Given the description of an element on the screen output the (x, y) to click on. 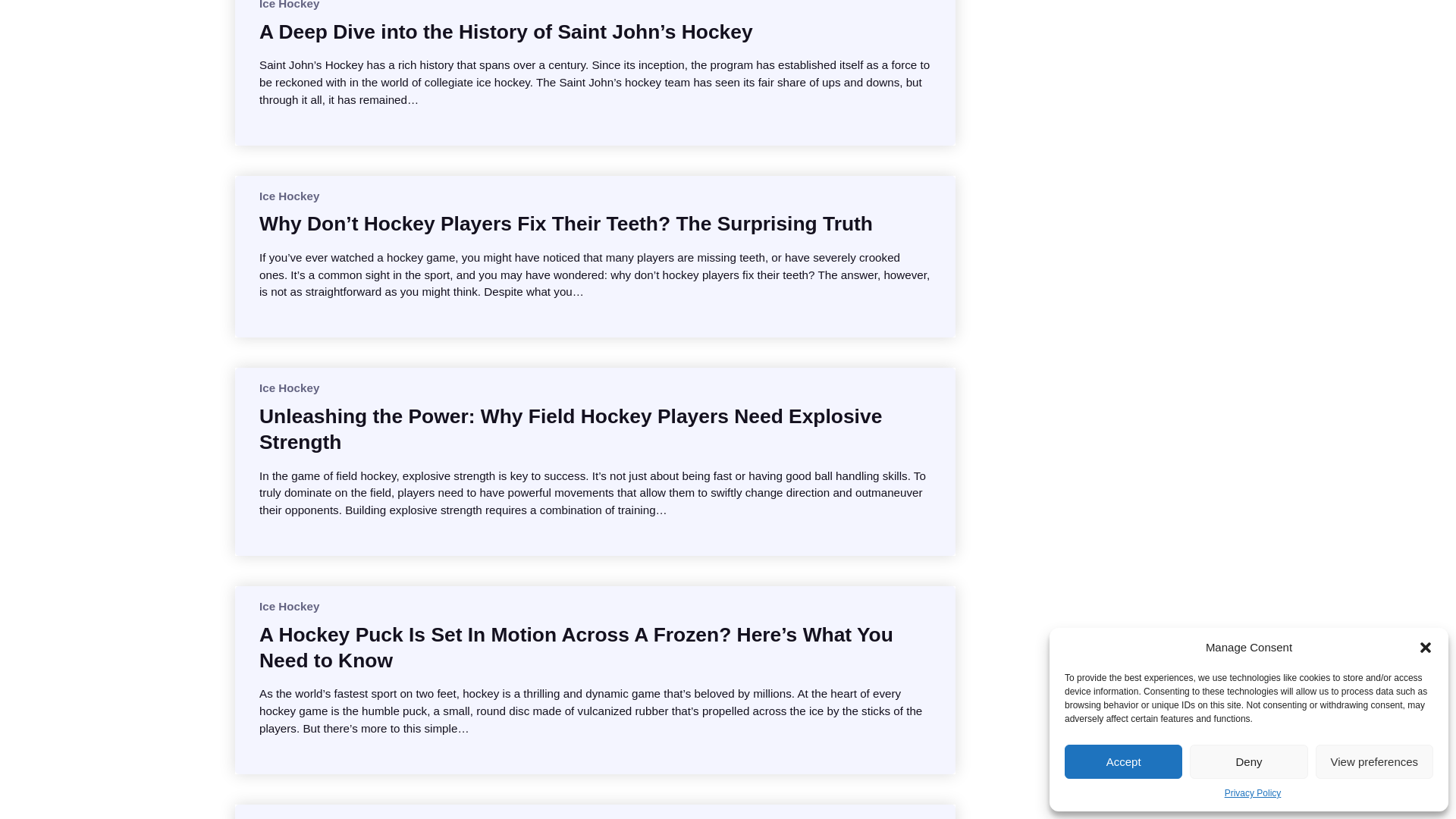
Ice Hockey (288, 4)
